Given the description of an element on the screen output the (x, y) to click on. 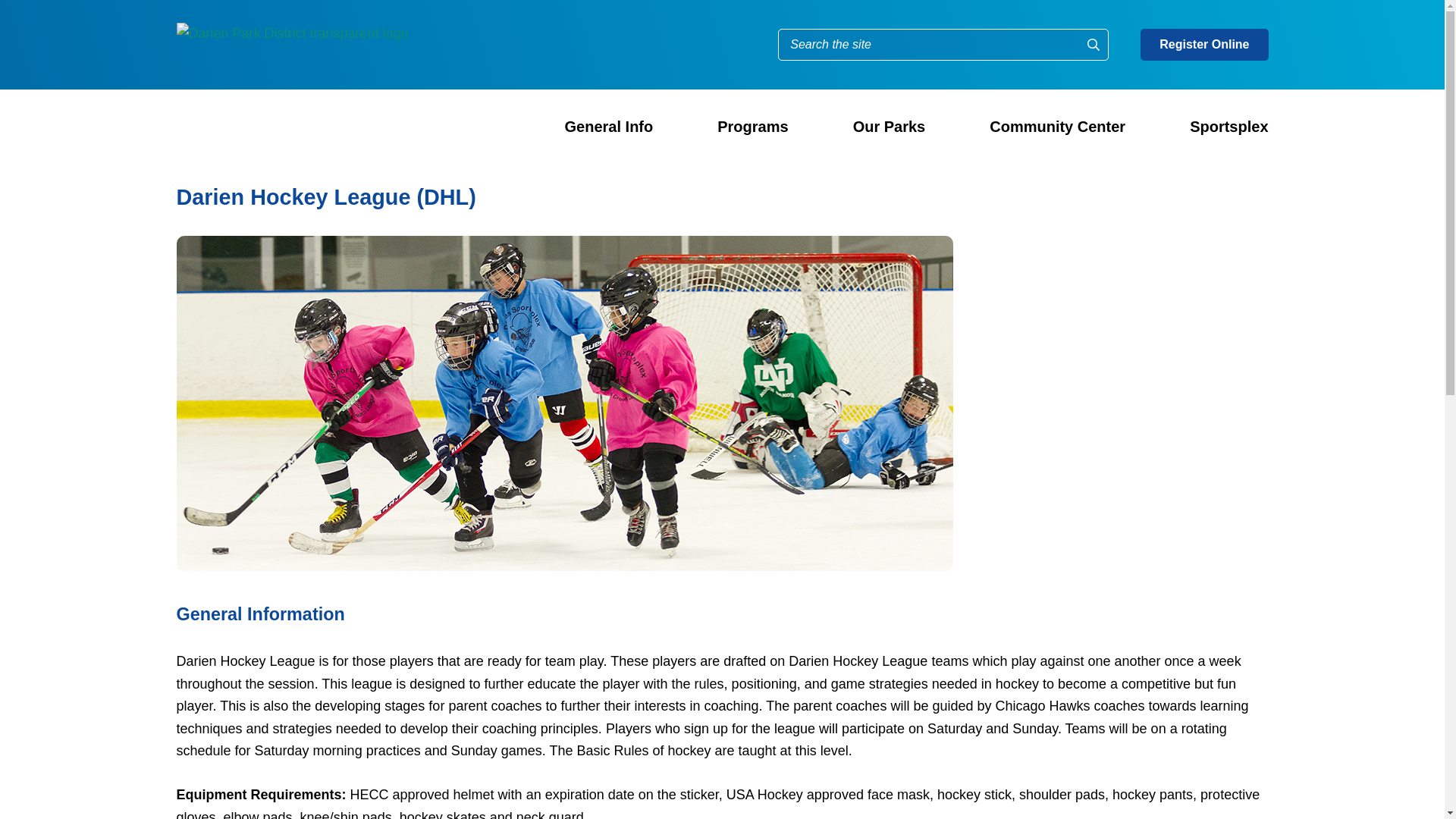
Register Online (1204, 44)
General Info (608, 126)
Programs (752, 126)
